Given the description of an element on the screen output the (x, y) to click on. 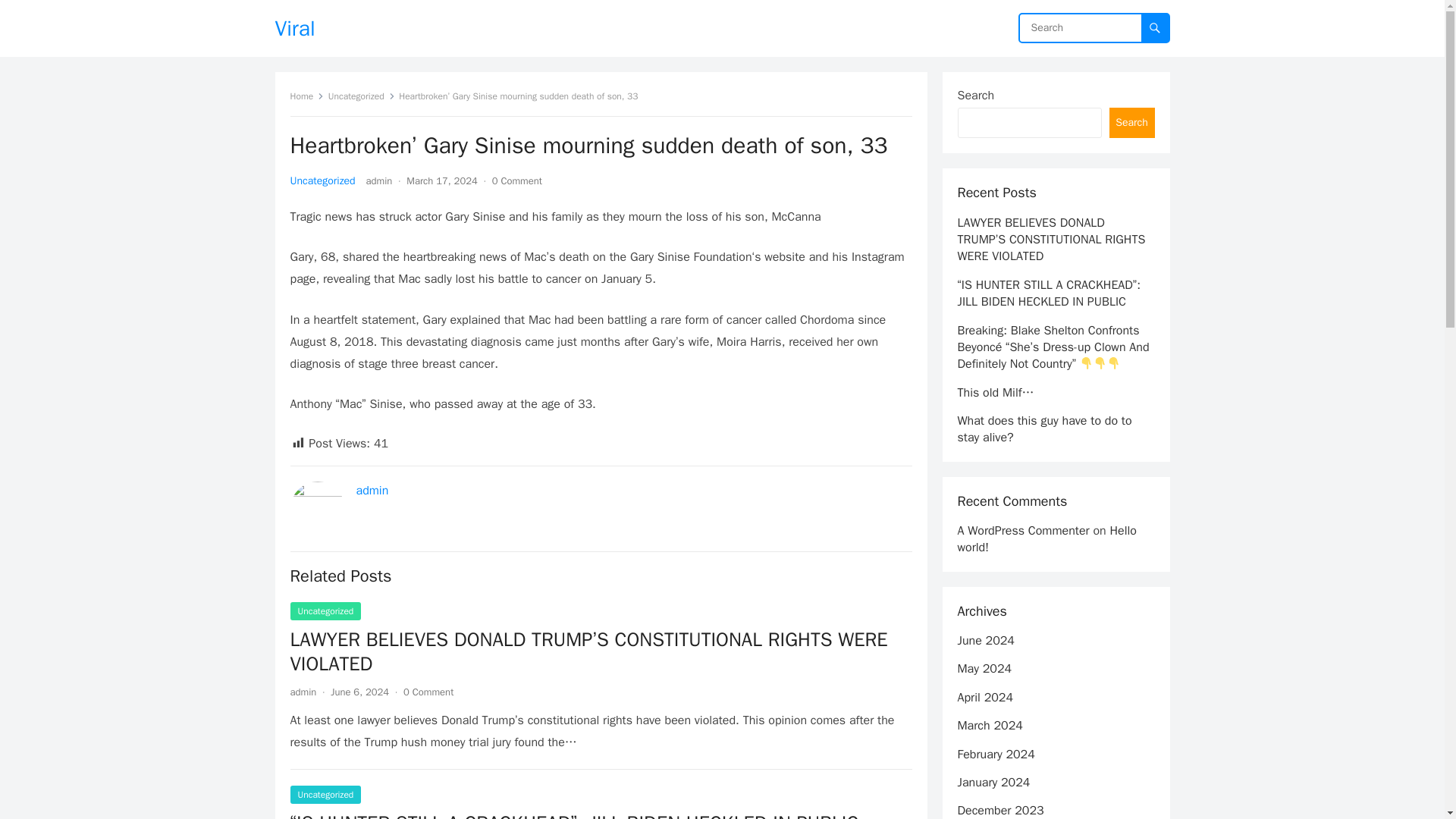
Uncategorized (361, 96)
admin (302, 691)
Uncategorized (322, 180)
Posts by admin (379, 180)
admin (372, 490)
Search (1131, 122)
Home (306, 96)
Uncategorized (325, 610)
0 Comment (516, 180)
Posts by admin (302, 691)
